Given the description of an element on the screen output the (x, y) to click on. 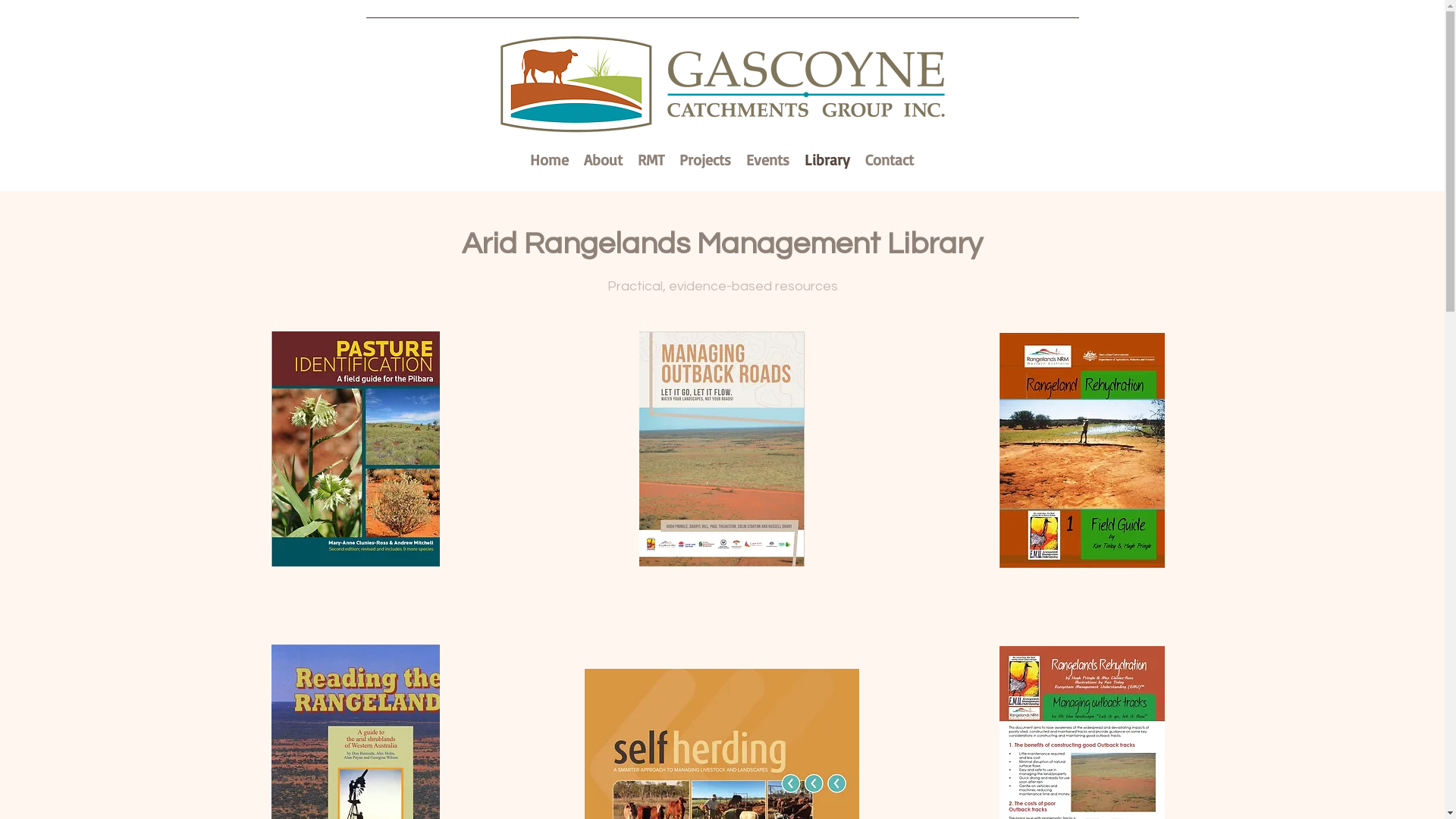
Library Element type: text (826, 157)
Rangeland Rehydration Field Guide.jpg Element type: hover (1081, 449)
RMT Element type: text (650, 157)
About Element type: text (603, 157)
Home Element type: text (548, 157)
GCG_Logo_RGB_Horizontal_edited.png Element type: hover (721, 84)
Projects Element type: text (704, 157)
Contact Element type: text (888, 157)
Events Element type: text (767, 157)
Managing Outback Roads.jpg Element type: hover (721, 447)
Pilbara Pasture Field Guide.jpg Element type: hover (355, 447)
TWIPLA (Visitor Analytics) Element type: hover (1330, 57)
